Given the description of an element on the screen output the (x, y) to click on. 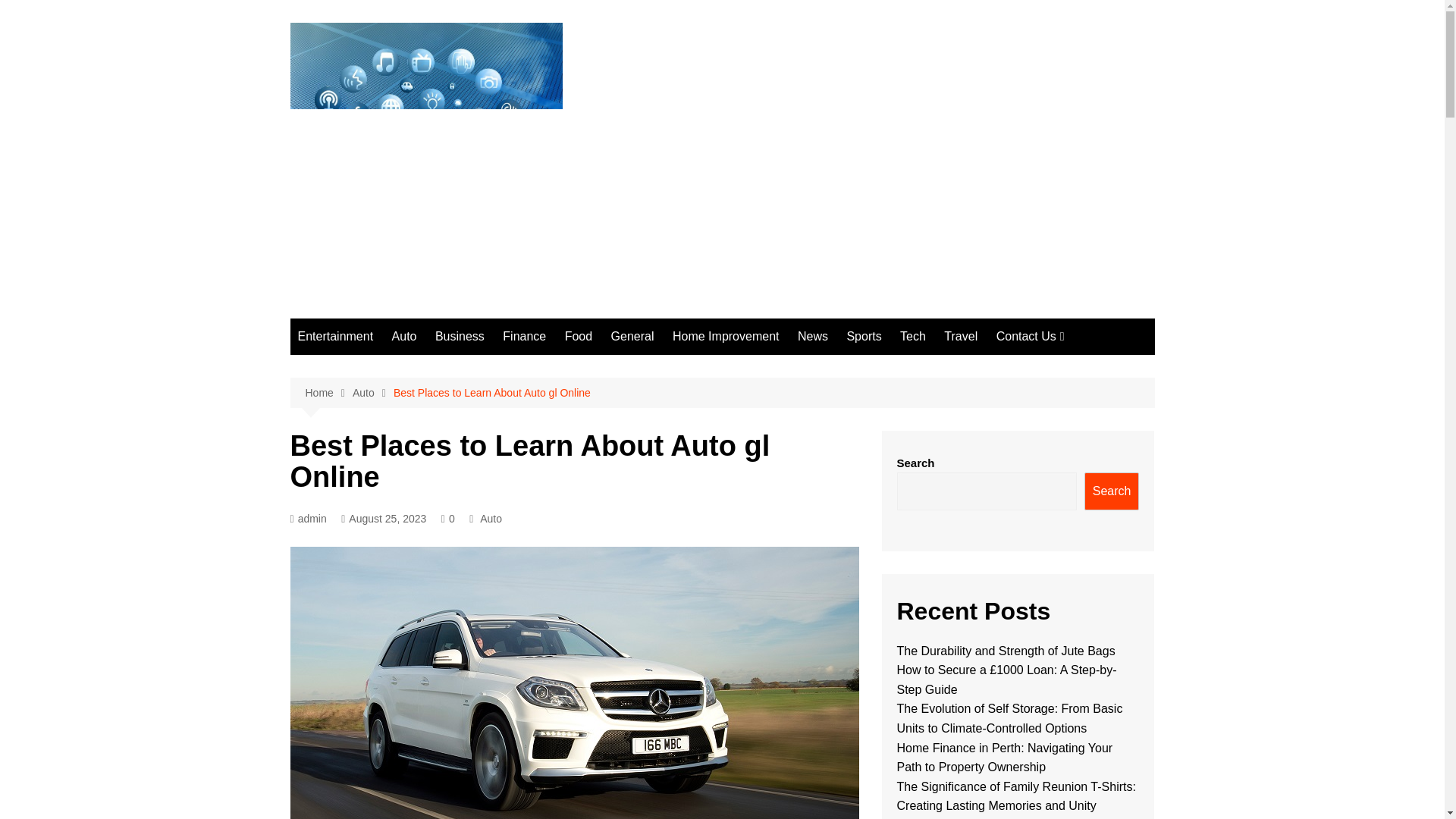
Home Improvement (726, 336)
Disclaimer (1072, 416)
Business (460, 336)
About Us (1072, 367)
General (633, 336)
August 25, 2023 (383, 518)
Tech (912, 336)
Best Places to Learn About Auto gl Online (492, 392)
Terms and Conditions (1072, 467)
News (812, 336)
